Given the description of an element on the screen output the (x, y) to click on. 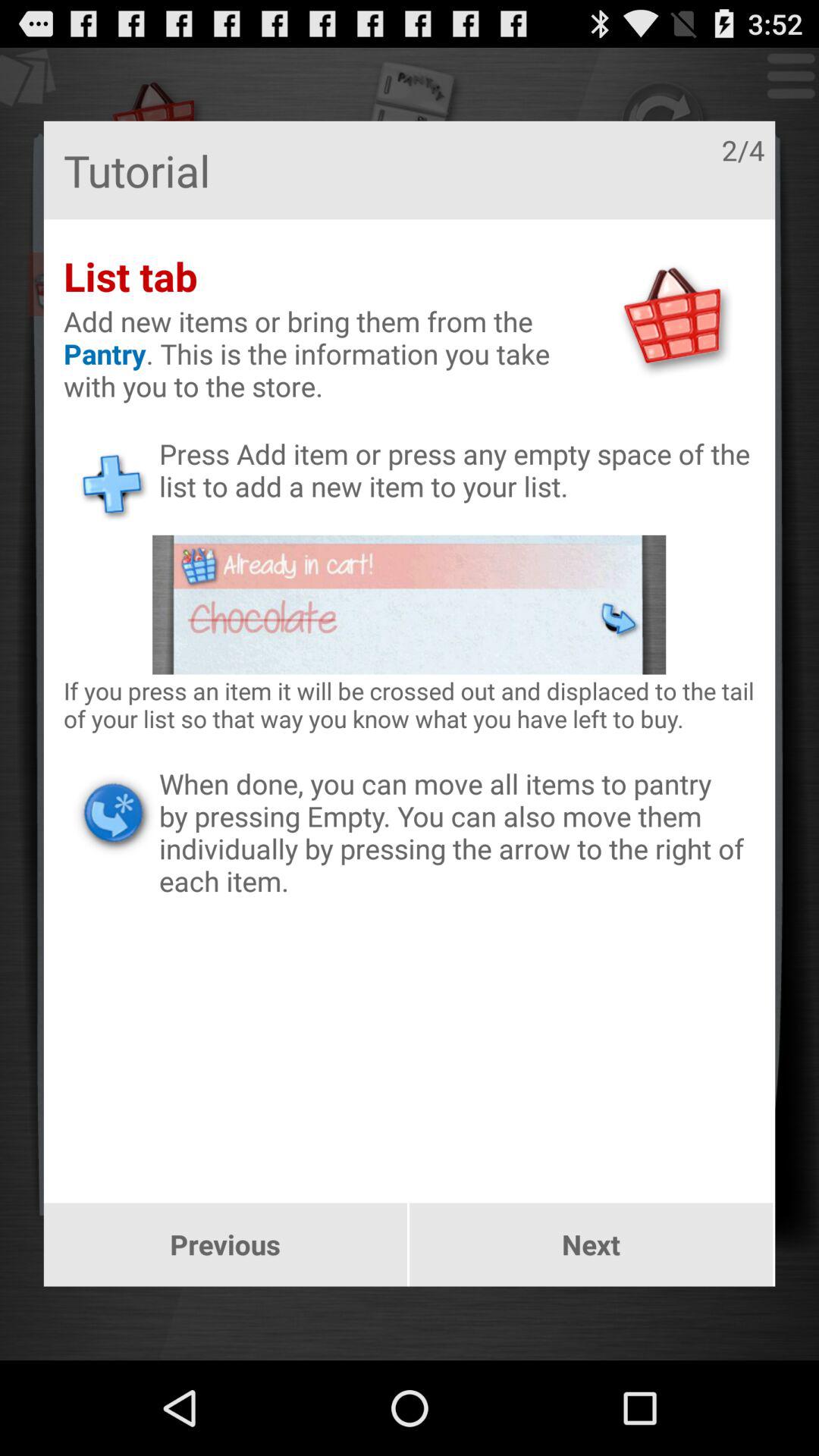
turn off the item next to the next button (225, 1244)
